Given the description of an element on the screen output the (x, y) to click on. 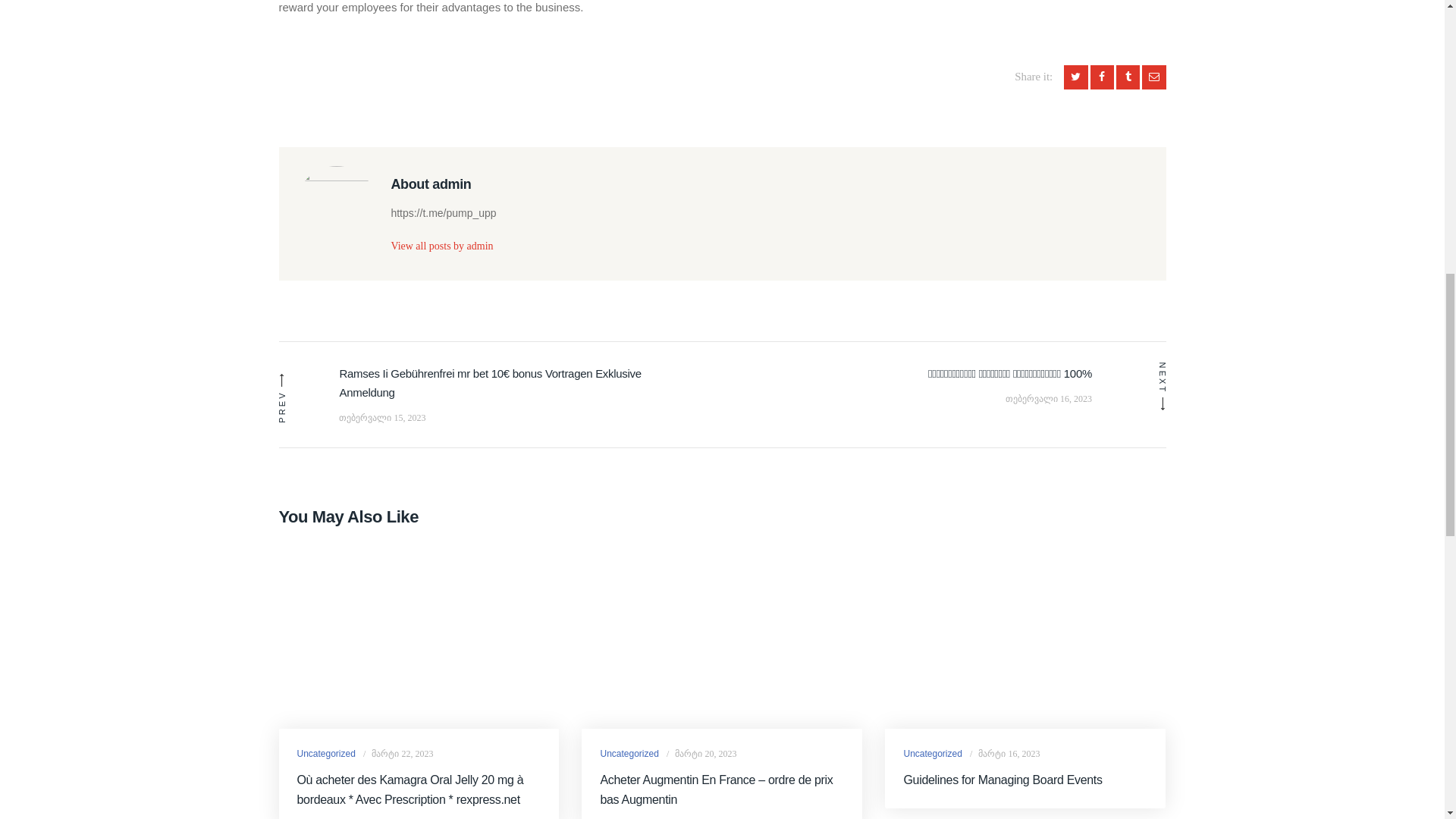
View all posts in Uncategorized (931, 753)
View all posts in Uncategorized (326, 753)
View all posts in Uncategorized (628, 753)
